Given the description of an element on the screen output the (x, y) to click on. 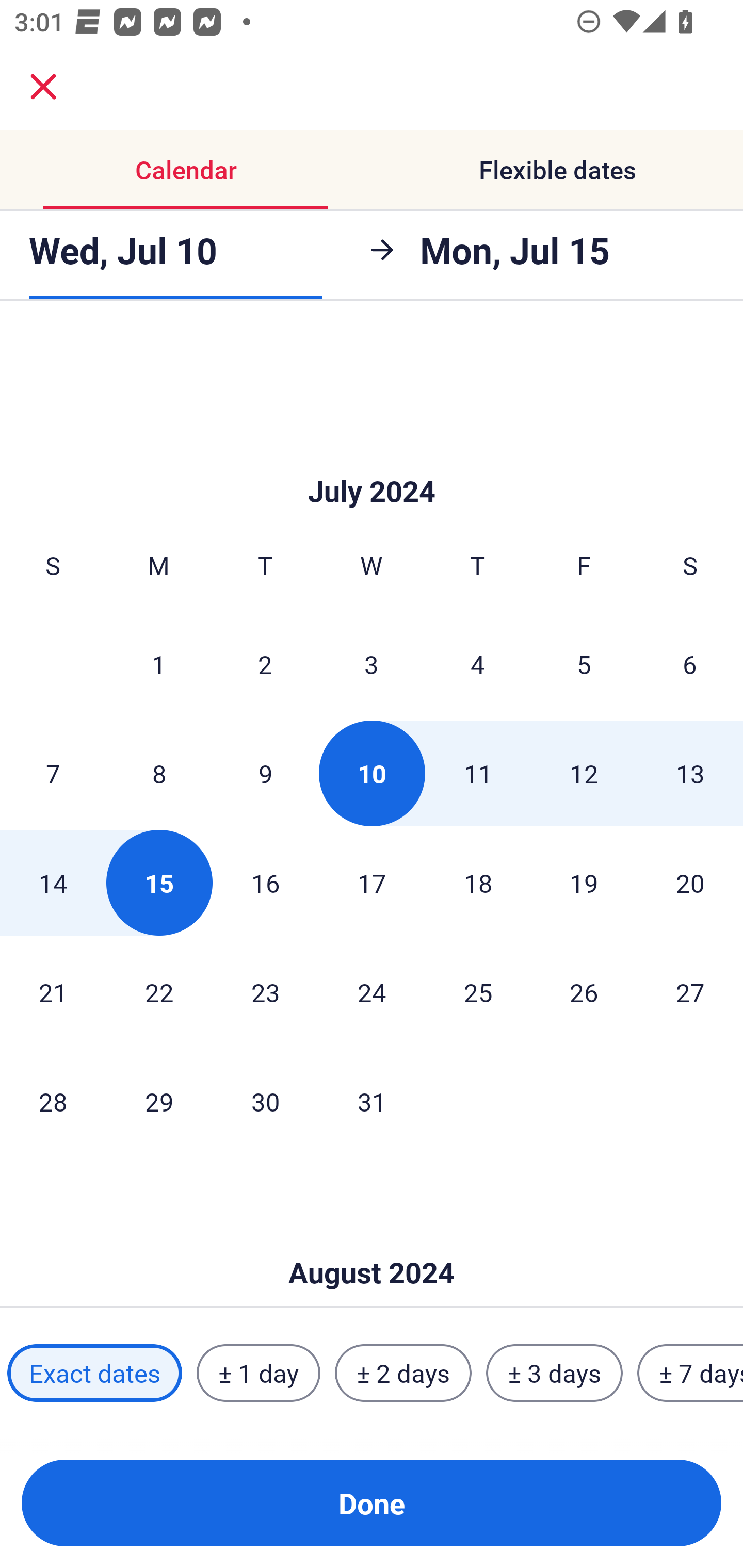
close. (43, 86)
Flexible dates (557, 170)
Skip to Done (371, 460)
1 Monday, July 1, 2024 (158, 663)
2 Tuesday, July 2, 2024 (264, 663)
3 Wednesday, July 3, 2024 (371, 663)
4 Thursday, July 4, 2024 (477, 663)
5 Friday, July 5, 2024 (583, 663)
6 Saturday, July 6, 2024 (689, 663)
7 Sunday, July 7, 2024 (53, 773)
8 Monday, July 8, 2024 (159, 773)
9 Tuesday, July 9, 2024 (265, 773)
16 Tuesday, July 16, 2024 (265, 882)
17 Wednesday, July 17, 2024 (371, 882)
18 Thursday, July 18, 2024 (477, 882)
19 Friday, July 19, 2024 (584, 882)
20 Saturday, July 20, 2024 (690, 882)
21 Sunday, July 21, 2024 (53, 991)
22 Monday, July 22, 2024 (159, 991)
23 Tuesday, July 23, 2024 (265, 991)
24 Wednesday, July 24, 2024 (371, 991)
25 Thursday, July 25, 2024 (477, 991)
26 Friday, July 26, 2024 (584, 991)
27 Saturday, July 27, 2024 (690, 991)
28 Sunday, July 28, 2024 (53, 1101)
29 Monday, July 29, 2024 (159, 1101)
30 Tuesday, July 30, 2024 (265, 1101)
31 Wednesday, July 31, 2024 (371, 1101)
Skip to Done (371, 1241)
Exact dates (94, 1372)
± 1 day (258, 1372)
± 2 days (403, 1372)
± 3 days (553, 1372)
± 7 days (690, 1372)
Done (371, 1502)
